Given the description of an element on the screen output the (x, y) to click on. 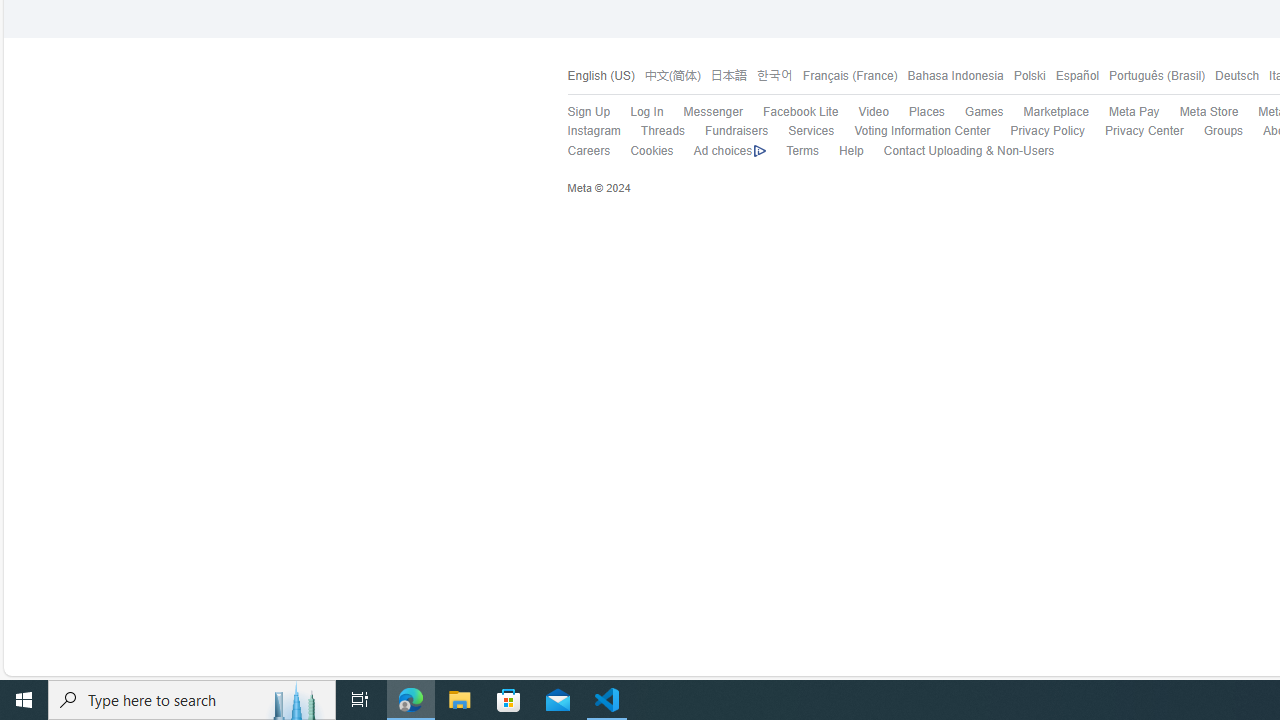
Bahasa Indonesia (950, 75)
Games (973, 112)
Careers (588, 150)
Video (863, 112)
Threads (651, 131)
Groups (1223, 130)
Deutsch (1236, 76)
Deutsch (1231, 75)
Marketplace (1055, 112)
Bahasa Indonesia (955, 76)
